Given the description of an element on the screen output the (x, y) to click on. 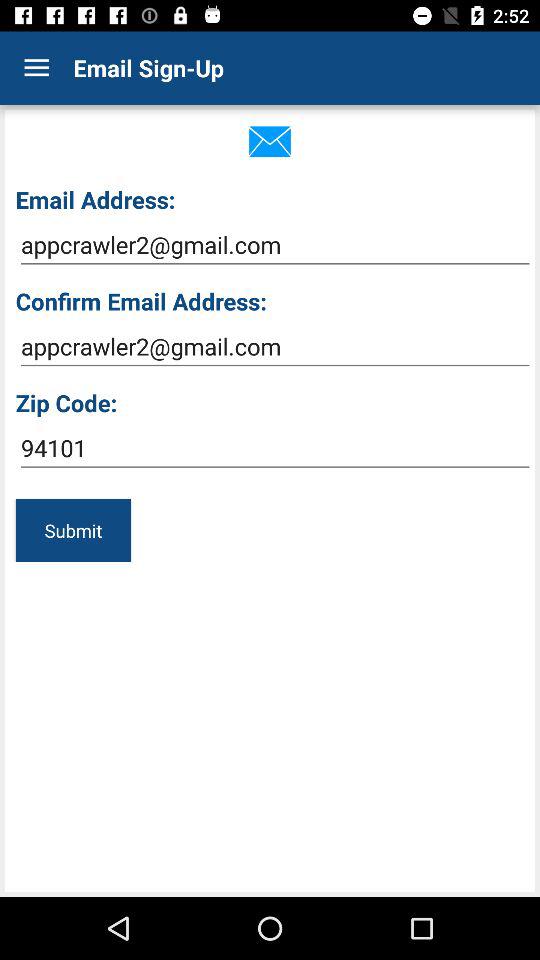
tap item next to the email sign-up (36, 68)
